Given the description of an element on the screen output the (x, y) to click on. 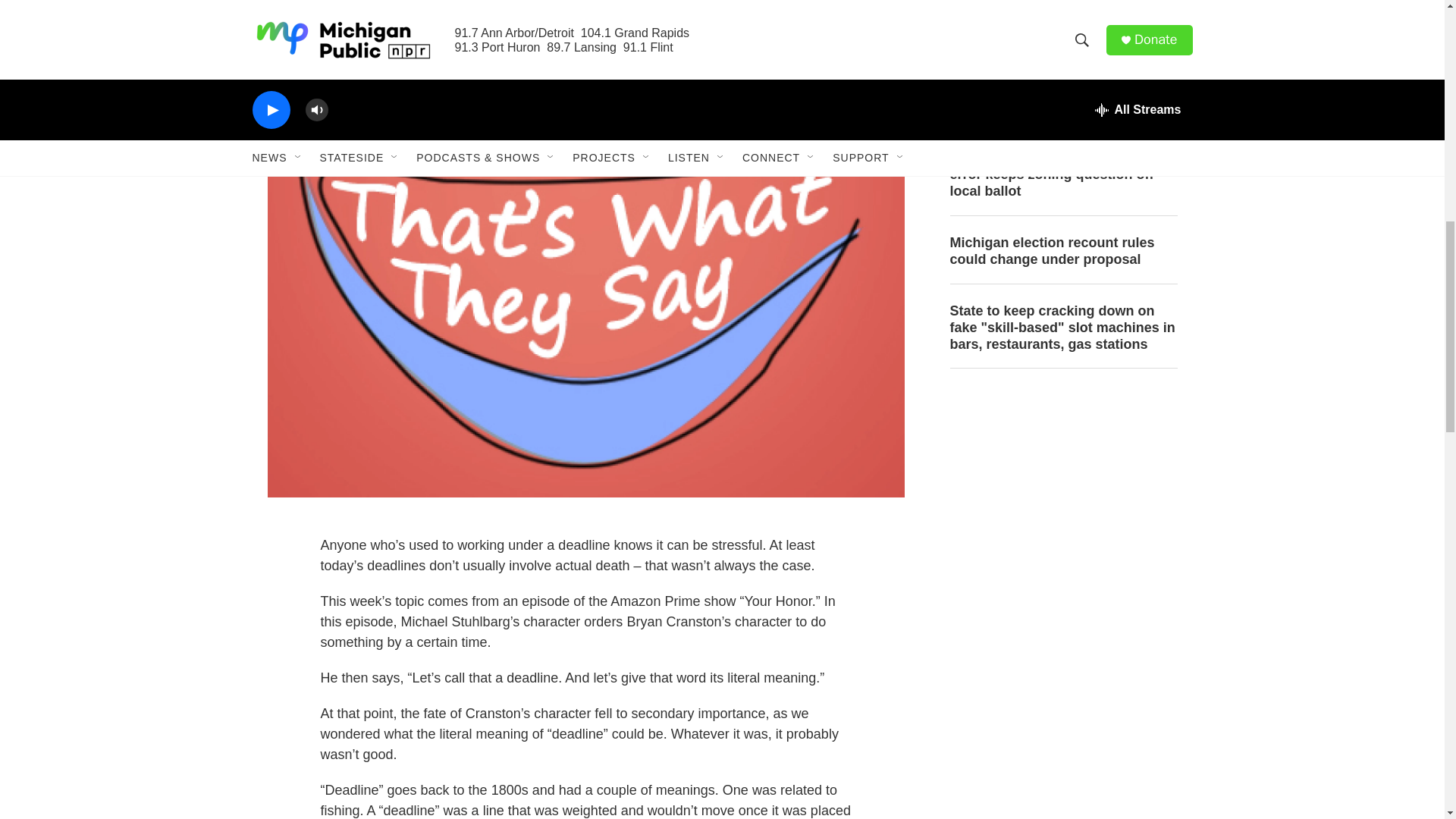
3rd party ad content (1062, 493)
3rd party ad content (1062, 713)
